Given the description of an element on the screen output the (x, y) to click on. 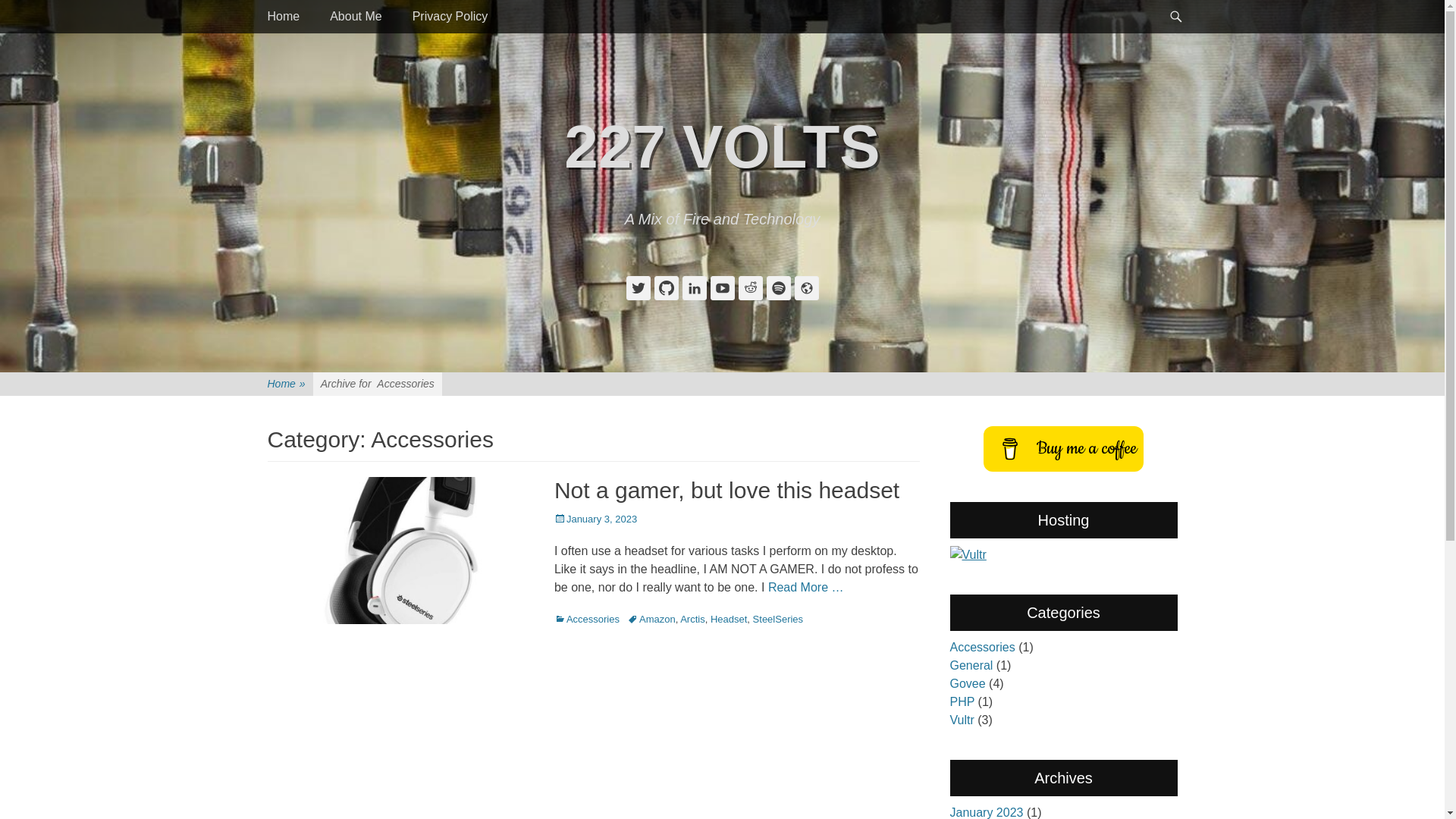
Spotify Element type: text (777, 288)
Privacy Policy Element type: text (450, 16)
SteelSeries Element type: text (778, 618)
Arctis Element type: text (692, 618)
227 VOLTS Element type: text (721, 146)
Website Element type: text (806, 288)
Not a gamer, but love this headset Element type: text (726, 489)
Reddit Element type: text (750, 288)
Vultr Element type: text (961, 719)
Twitter Element type: text (638, 288)
Headset Element type: text (728, 618)
YouTube Element type: text (721, 288)
Home Element type: text (282, 16)
General Element type: text (970, 664)
Amazon Element type: text (651, 618)
Accessories Element type: text (981, 646)
LinkedIn Element type: text (694, 288)
PHP Element type: text (961, 701)
About Me Element type: text (355, 16)
Govee Element type: text (967, 683)
Accessories Element type: text (586, 618)
Buy me a coffee Element type: text (1062, 448)
GitHub Element type: text (665, 288)
January 3, 2023 Element type: text (595, 518)
